Given the description of an element on the screen output the (x, y) to click on. 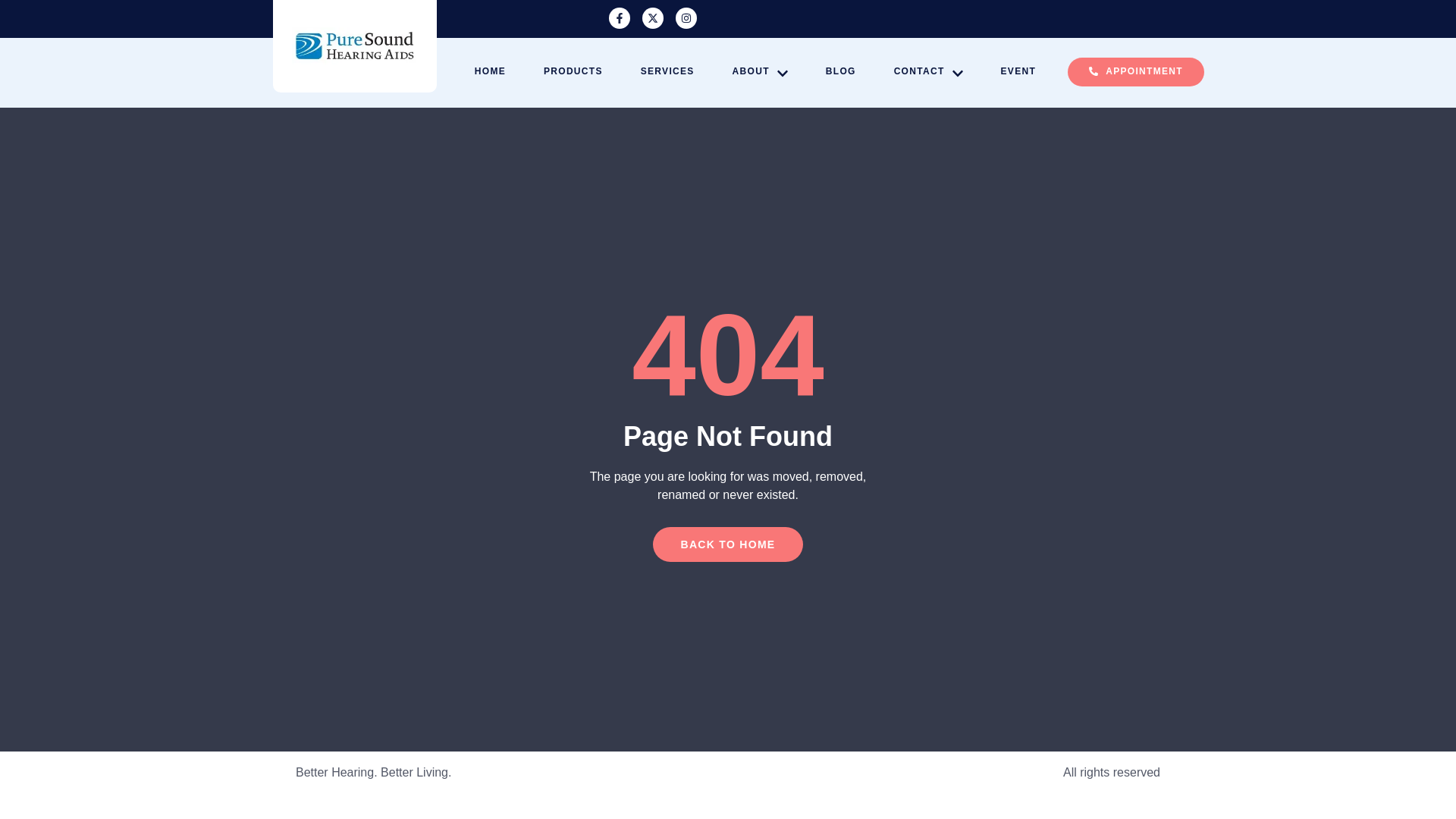
ABOUT (778, 71)
PRODUCTS (591, 71)
HOME (508, 71)
APPOINTMENT (1135, 71)
CONTACT (947, 71)
BACK TO HOME (727, 544)
EVENT (1037, 71)
SERVICES (686, 71)
BLOG (859, 71)
